Given the description of an element on the screen output the (x, y) to click on. 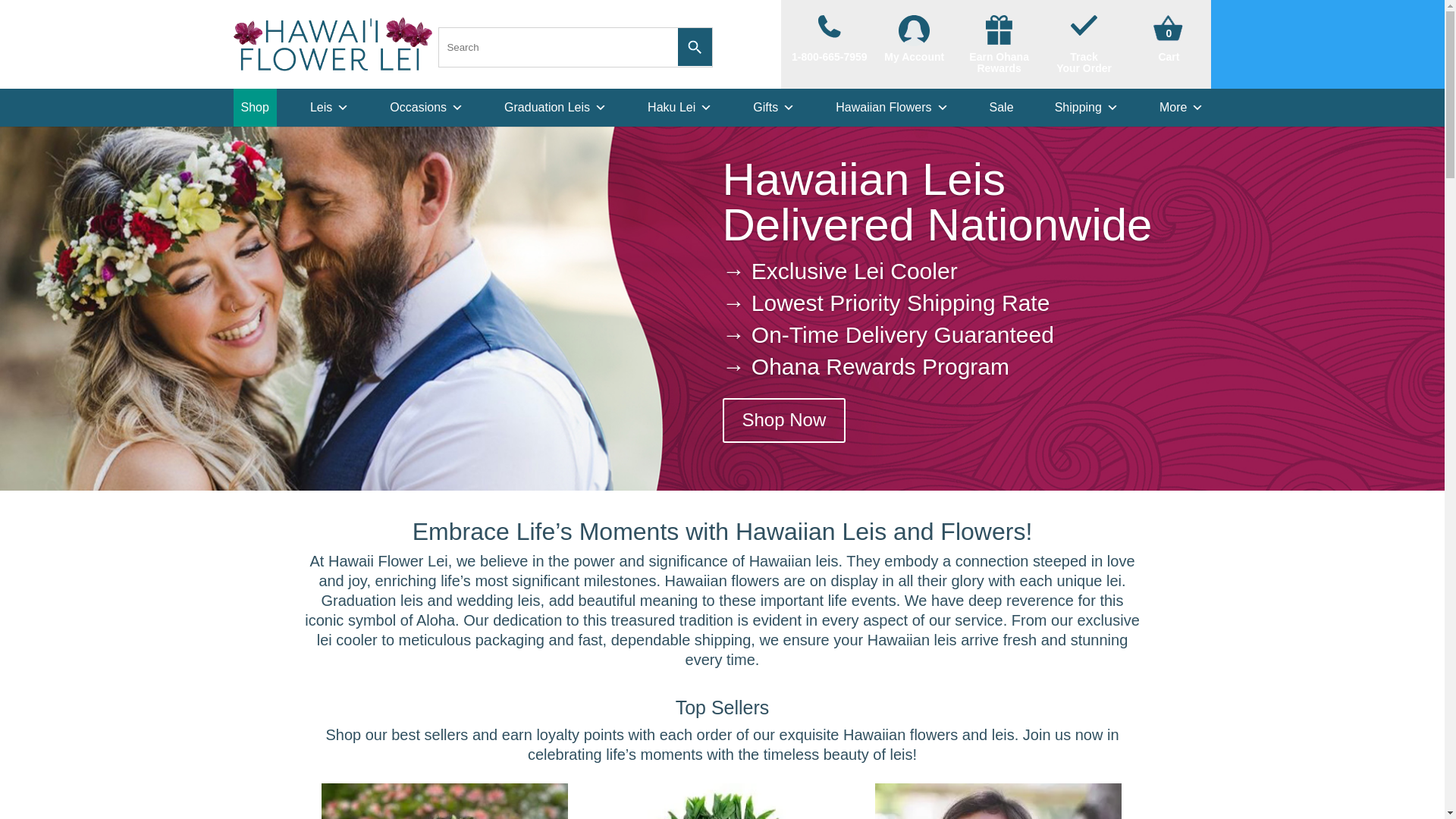
0 (999, 44)
My Account (1168, 30)
1-800-665-7959 (914, 39)
Cart (829, 39)
Shop (1168, 56)
Leis (254, 107)
Search for: (1084, 44)
Occasions (329, 107)
